Given the description of an element on the screen output the (x, y) to click on. 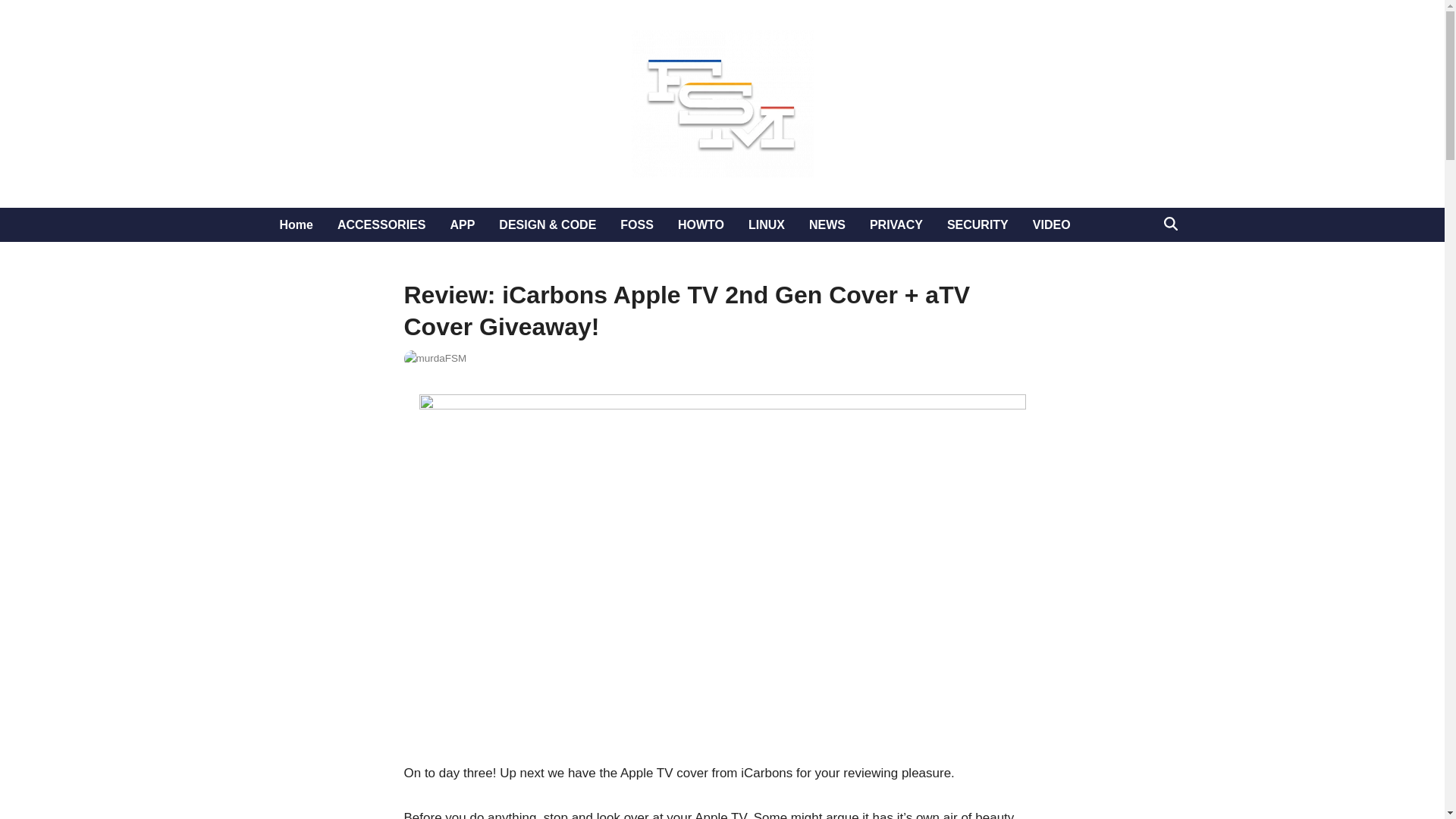
PRIVACY (895, 224)
APP (462, 224)
VIDEO (1051, 224)
HOWTO (700, 224)
ACCESSORIES (381, 224)
Home (295, 224)
LINUX (766, 224)
NEWS (826, 224)
FOSS (636, 224)
SECURITY (977, 224)
